Given the description of an element on the screen output the (x, y) to click on. 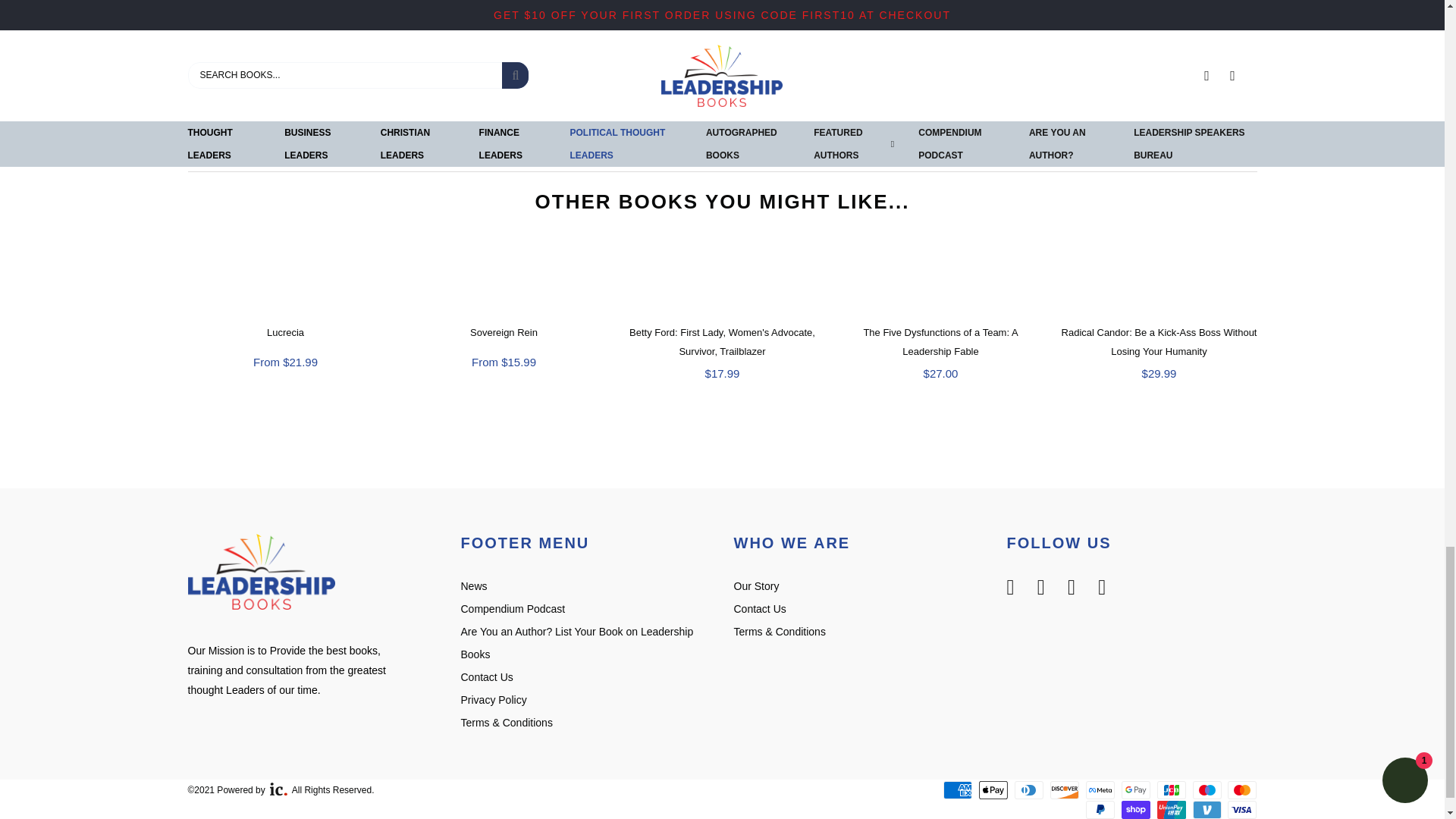
Apple Pay (992, 790)
Maestro (1206, 790)
Diners Club (1028, 790)
Discover (1063, 790)
Meta Pay (1100, 790)
JCB (1171, 790)
American Express (957, 790)
Google Pay (1135, 790)
Mastercard (1241, 790)
